Given the description of an element on the screen output the (x, y) to click on. 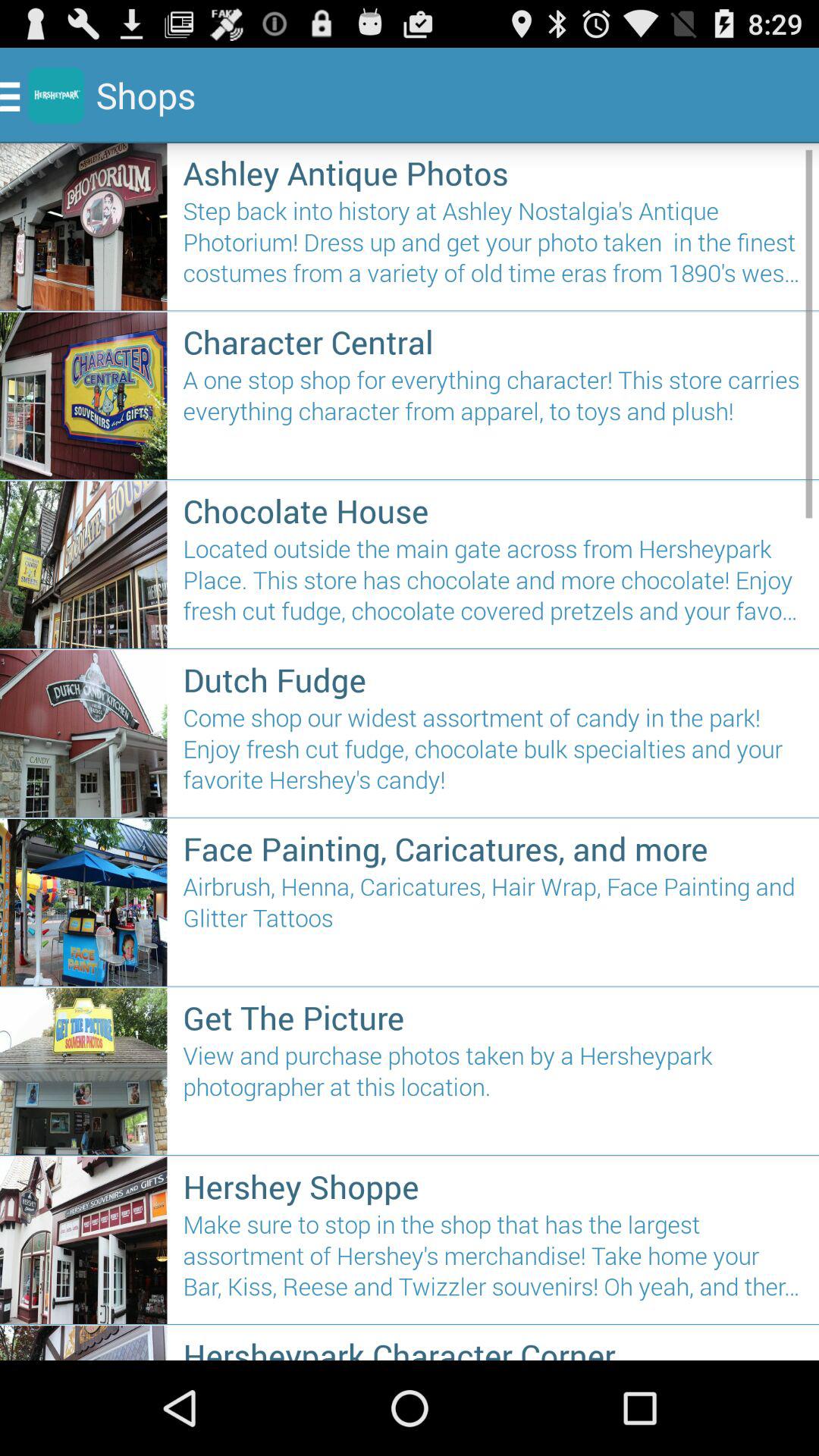
open the item below dutch fudge (493, 755)
